Given the description of an element on the screen output the (x, y) to click on. 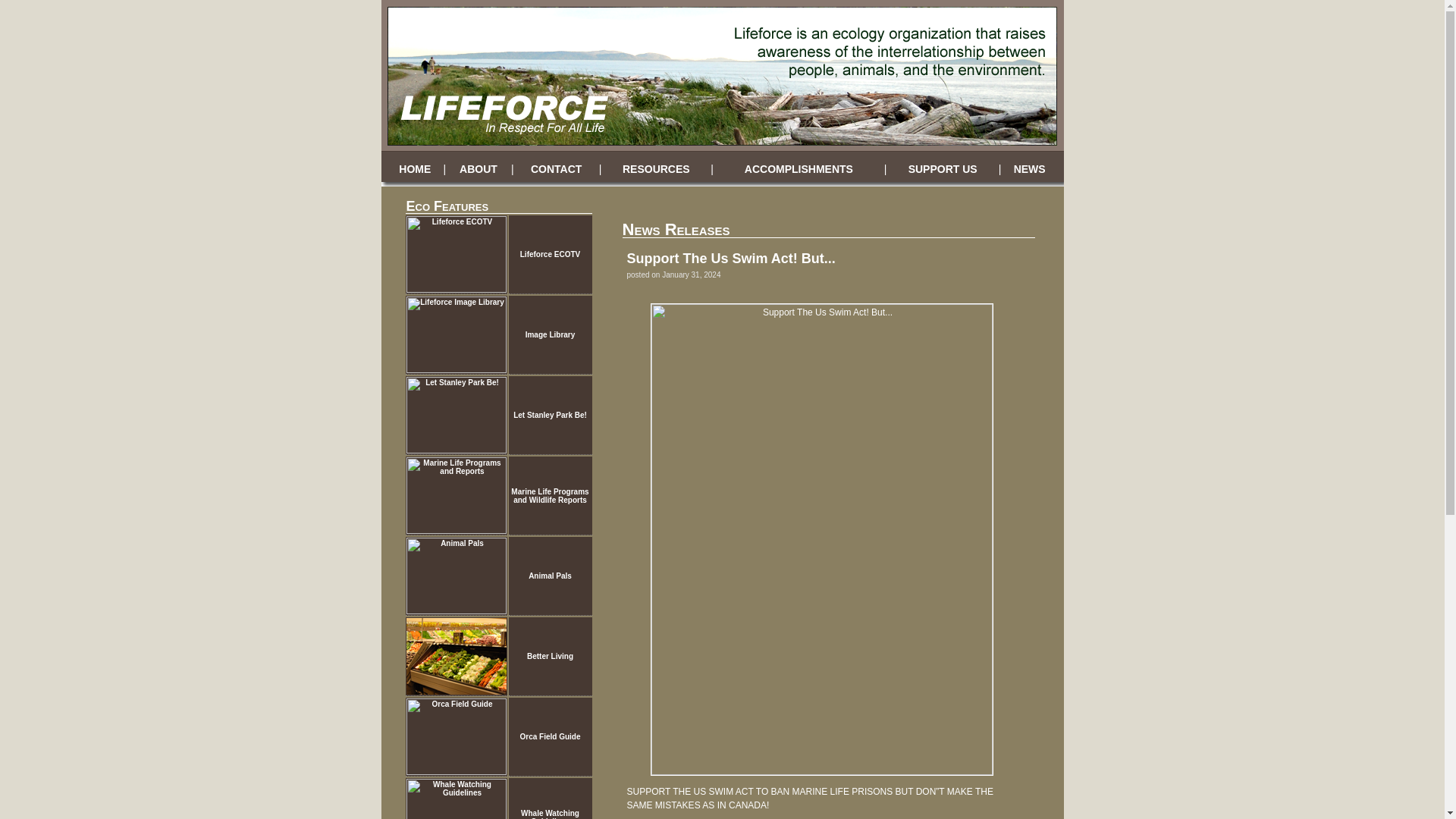
Better Living (550, 655)
Lifeforce ECOTV (549, 254)
News Releases (675, 229)
ACCOMPLISHMENTS (798, 168)
Orca Field Guide (549, 736)
CONTACT (555, 168)
Let Stanley Park Be! (549, 415)
SUPPORT US (942, 168)
HOME (414, 168)
Image Library (550, 334)
